Given the description of an element on the screen output the (x, y) to click on. 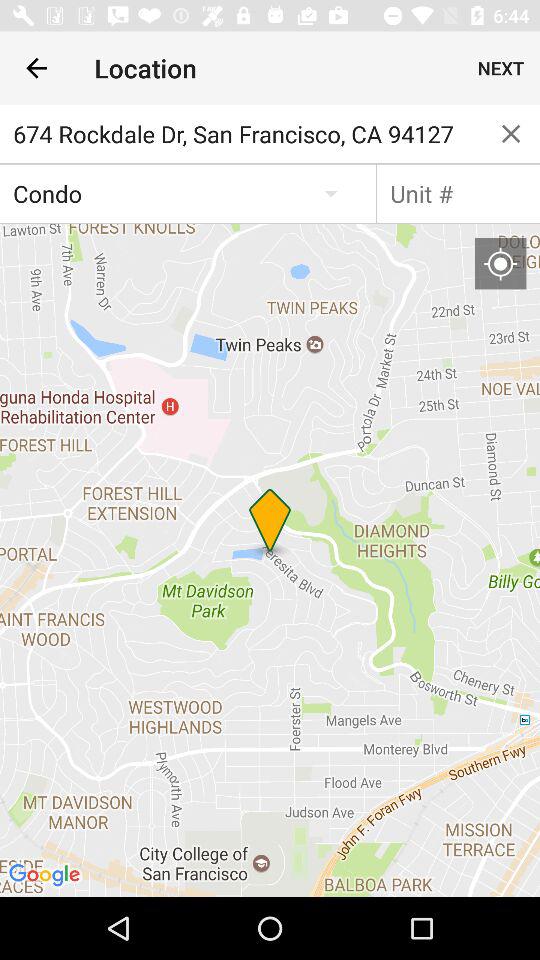
tap icon next to the location (36, 68)
